Given the description of an element on the screen output the (x, y) to click on. 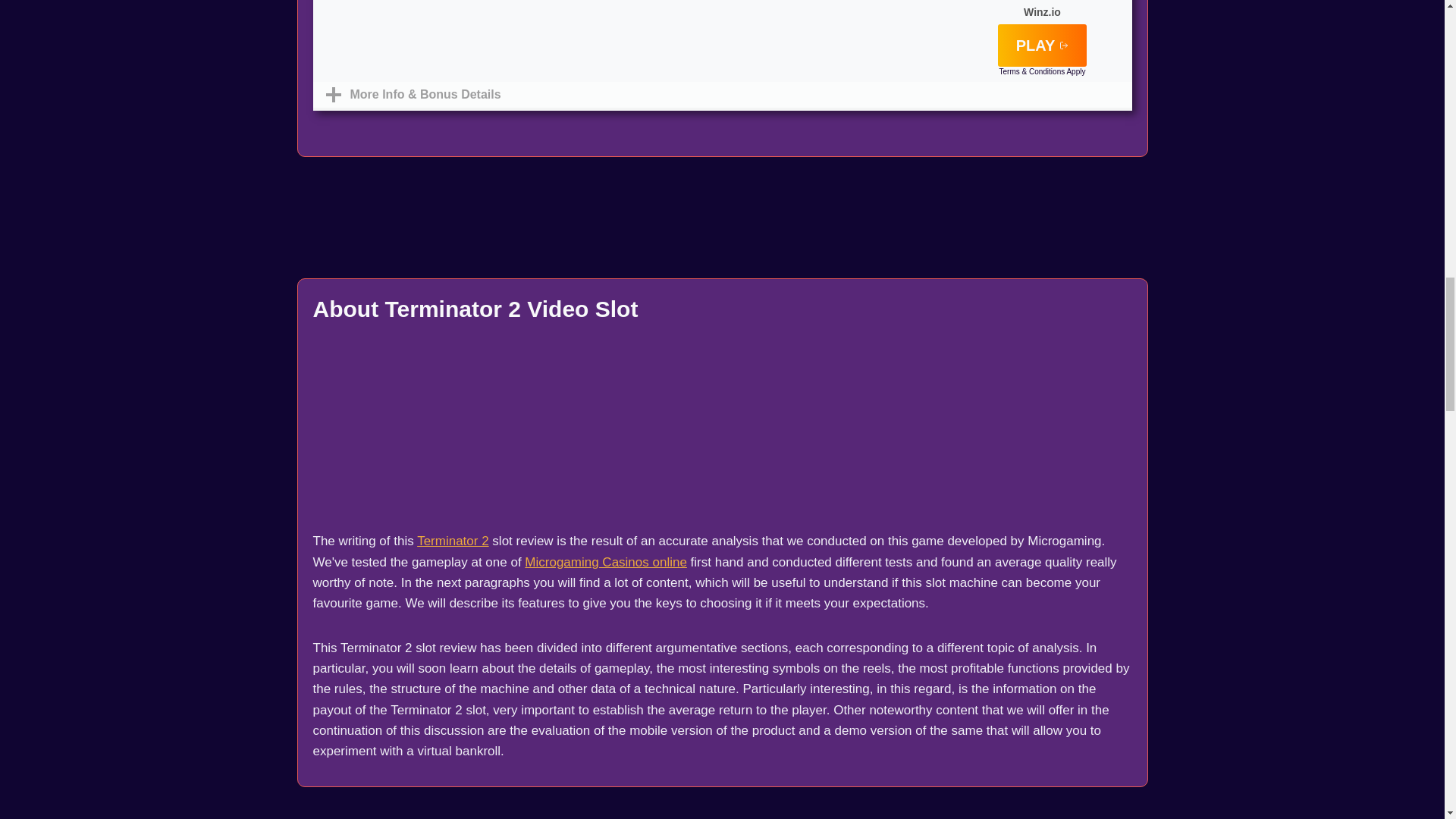
Scratchcards (695, 15)
Casino (748, 15)
Games (722, 15)
Terminator 2 Review (451, 540)
